Given the description of an element on the screen output the (x, y) to click on. 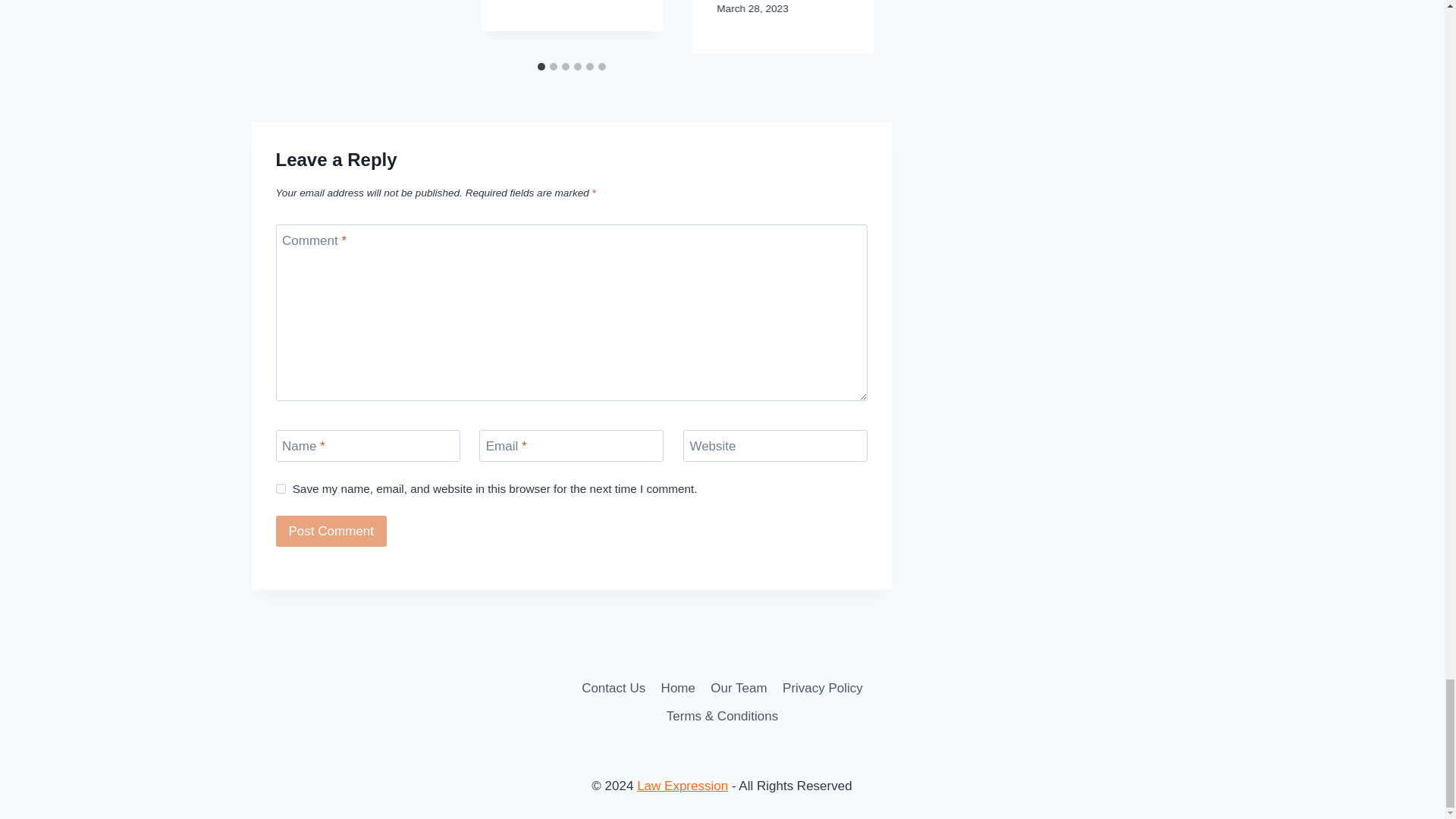
Post Comment (331, 531)
yes (280, 488)
